Given the description of an element on the screen output the (x, y) to click on. 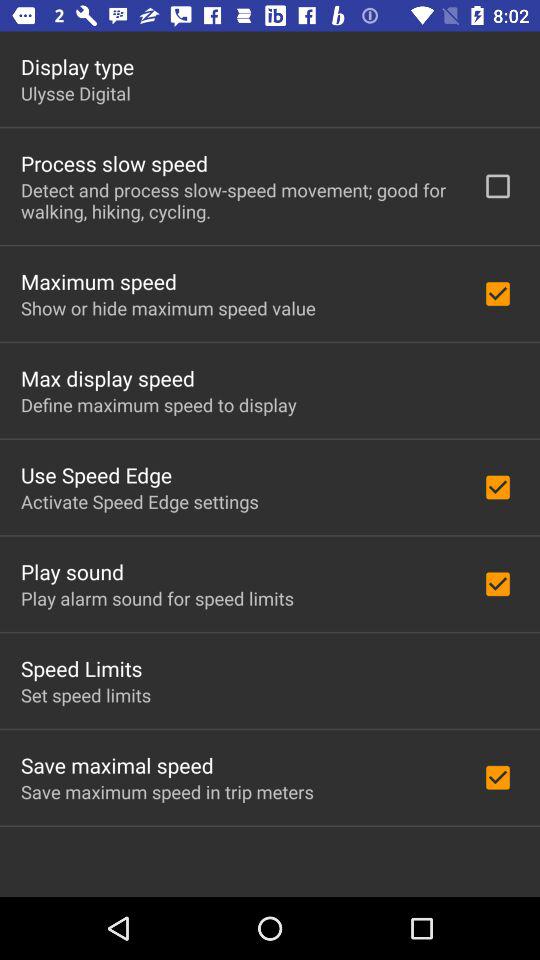
open item below maximum speed icon (168, 307)
